Given the description of an element on the screen output the (x, y) to click on. 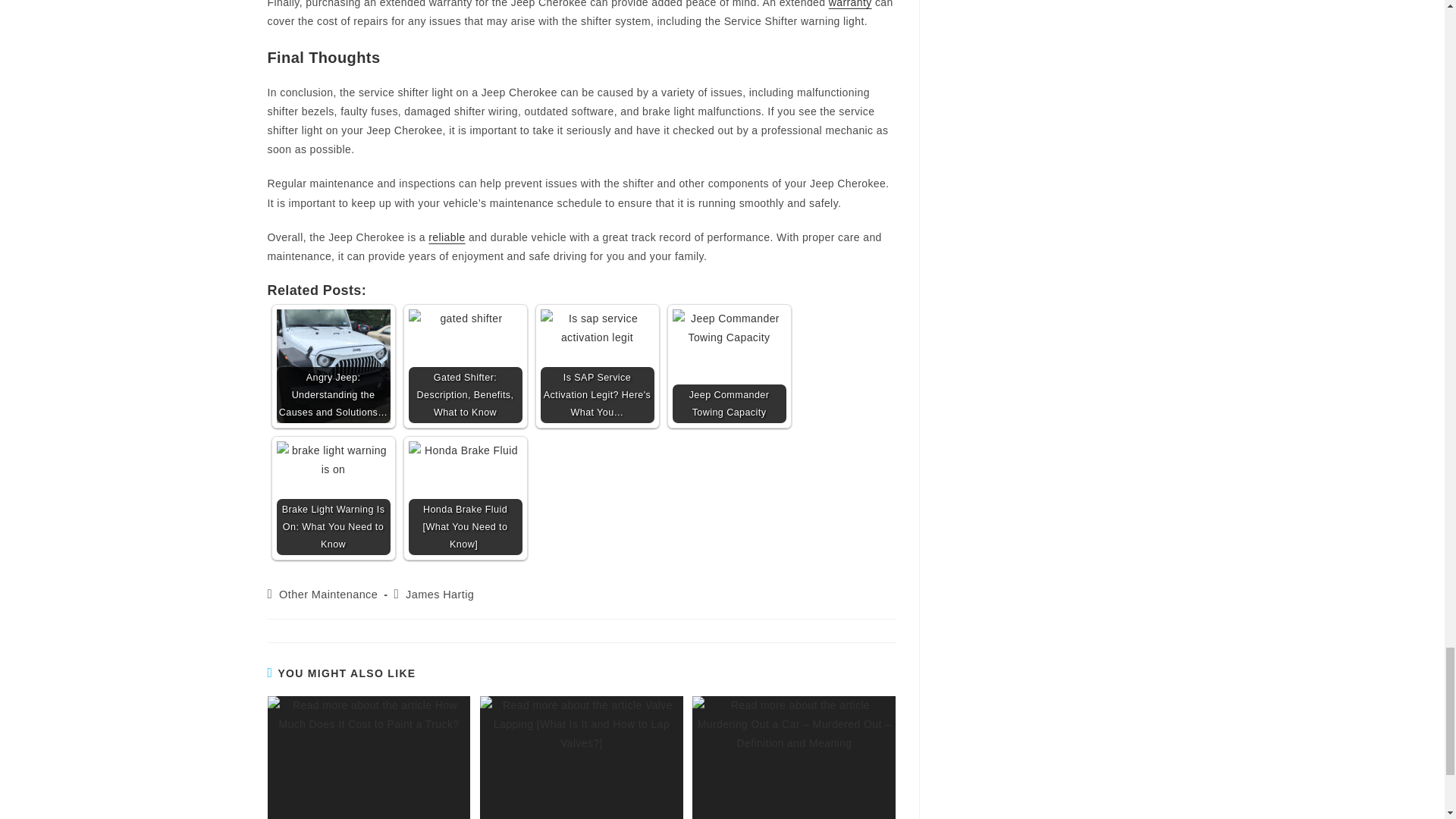
Motor Vehicle Service Notification (850, 4)
Jeep Commander Towing Capacity (728, 366)
Brake Light Warning Is On: What You Need to Know (333, 498)
Posts by James Hartig (440, 594)
Gated Shifter: Description, Benefits, What to Know (464, 366)
